Given the description of an element on the screen output the (x, y) to click on. 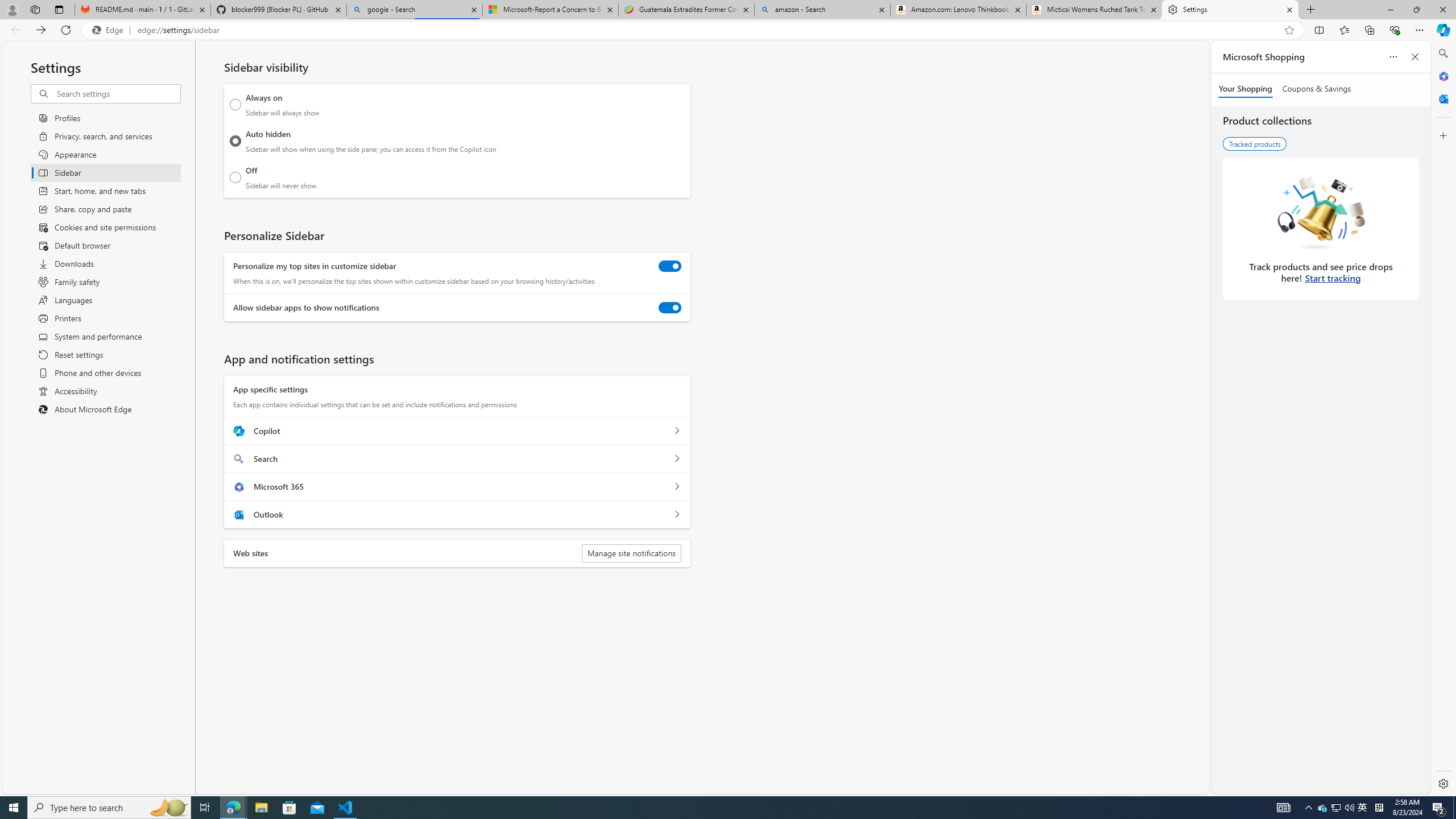
Edge (110, 29)
Off Sidebar will never show (235, 177)
Copilot (676, 430)
amazon - Search (822, 9)
